Given the description of an element on the screen output the (x, y) to click on. 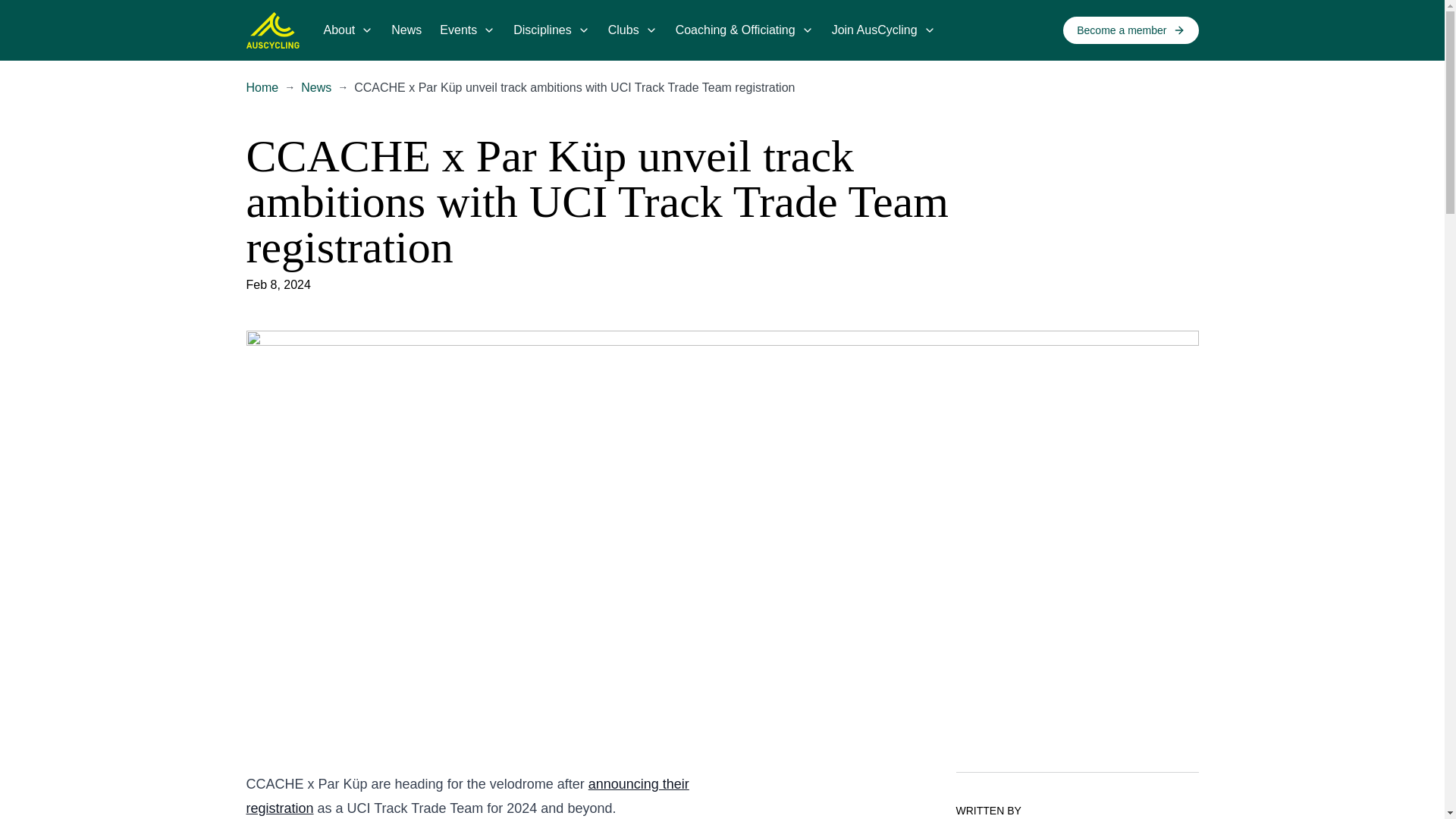
Clubs (623, 30)
News (406, 30)
About (339, 30)
Disciplines (541, 30)
Events (458, 30)
